Given the description of an element on the screen output the (x, y) to click on. 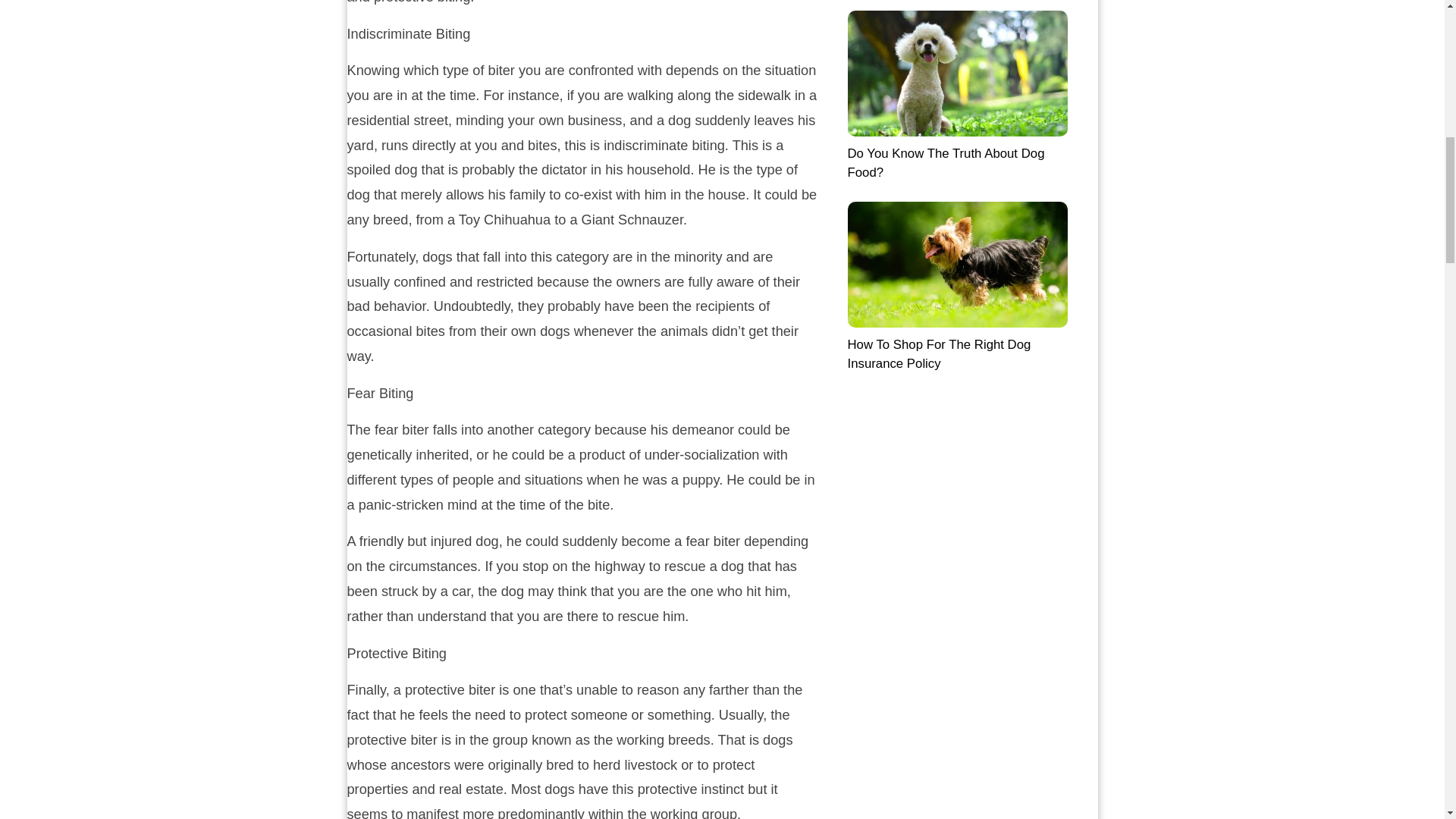
Do You Know The Truth About Dog Food? (957, 94)
How To Shop For The Right Dog Insurance Policy (957, 286)
